Given the description of an element on the screen output the (x, y) to click on. 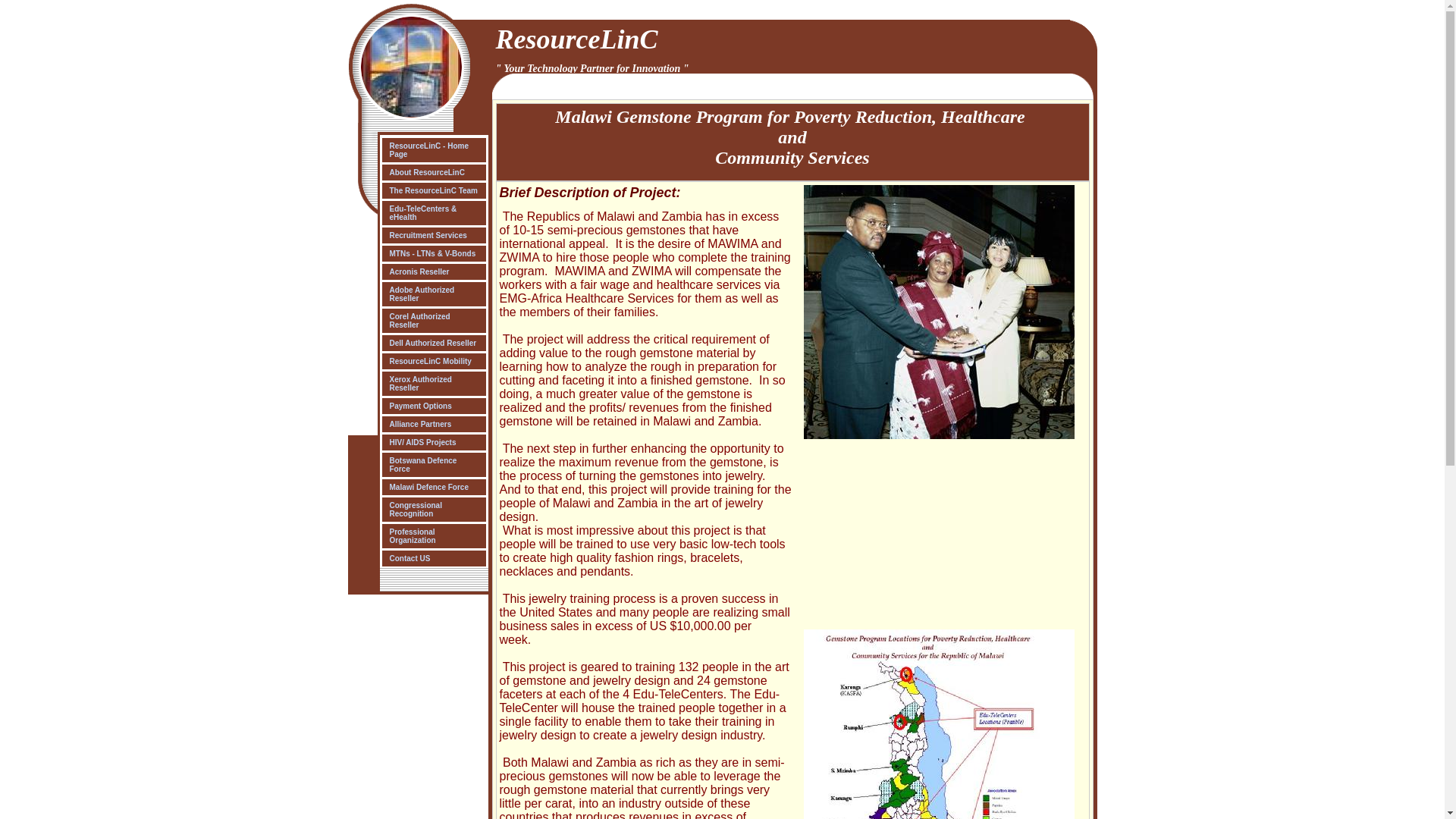
Botswana Defence Force (433, 464)
ResourceLinC - Home Page (433, 149)
Recruitment Services (433, 235)
Professional Organization (433, 535)
Congressional Recognition (433, 509)
Alliance Partners (433, 424)
About ResourceLinC (433, 171)
Corel Authorized Reseller (433, 320)
The ResourceLinC Team (433, 190)
ResourceLinC Mobility (433, 361)
